Given the description of an element on the screen output the (x, y) to click on. 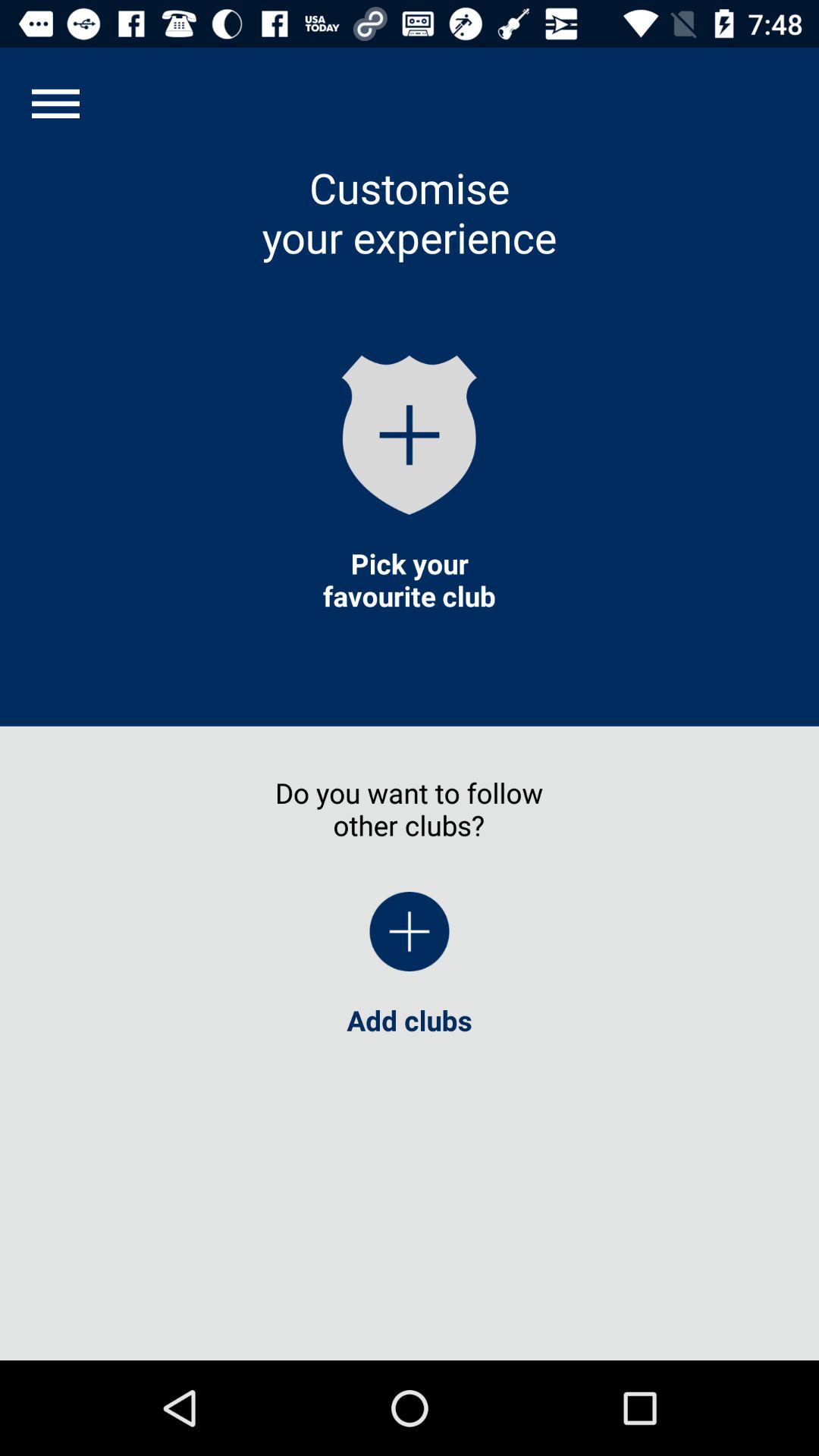
choose item above add clubs item (55, 103)
